Given the description of an element on the screen output the (x, y) to click on. 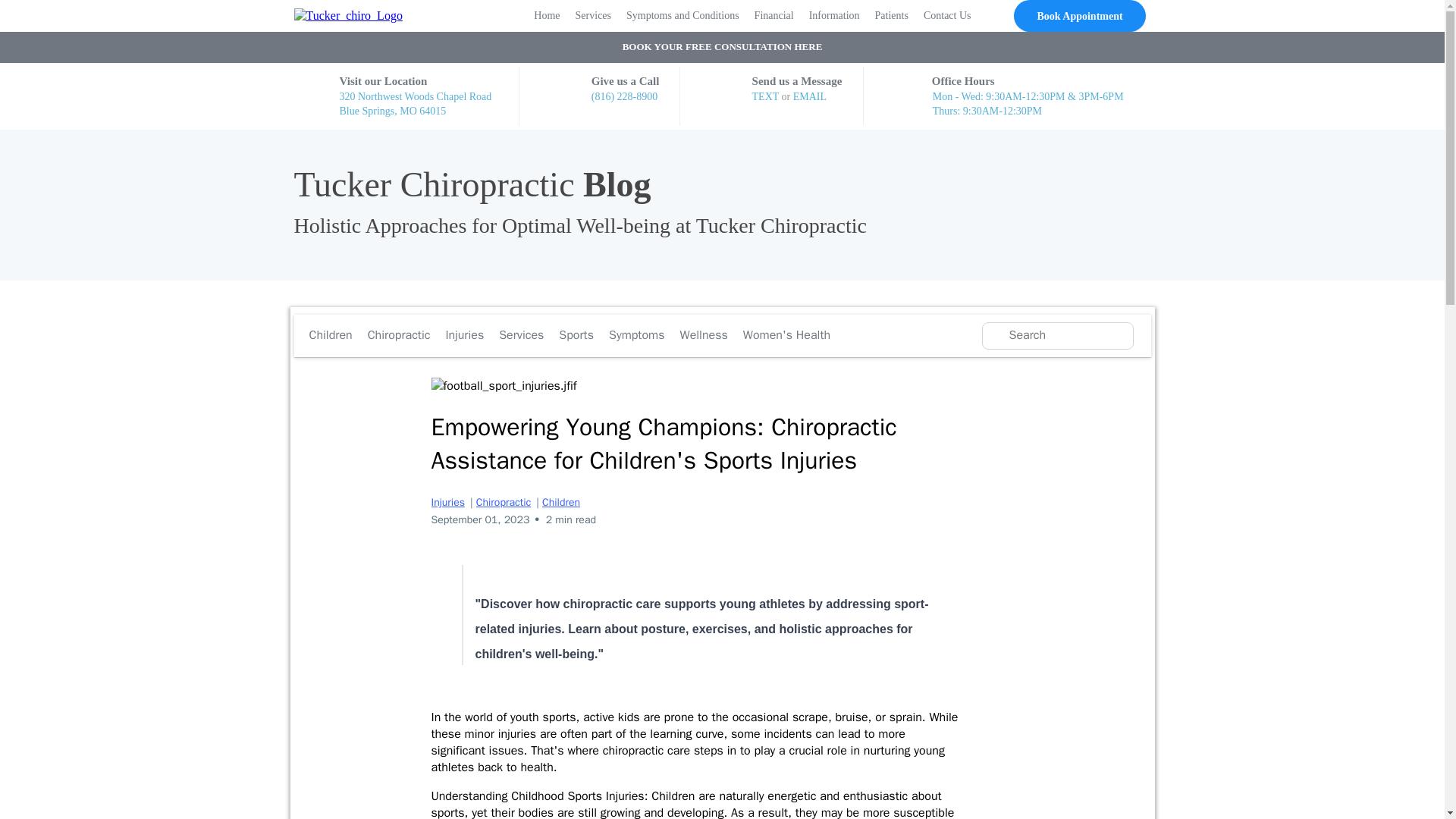
EMAIL (810, 96)
Chiropractic (503, 502)
TEXT (766, 96)
Information (834, 15)
Symptoms (636, 335)
Symptoms and Conditions (682, 15)
BOOK YOUR FREE CONSULTATION HERE (722, 46)
Services (592, 15)
Financial (774, 15)
Chiropractic (398, 335)
